Given the description of an element on the screen output the (x, y) to click on. 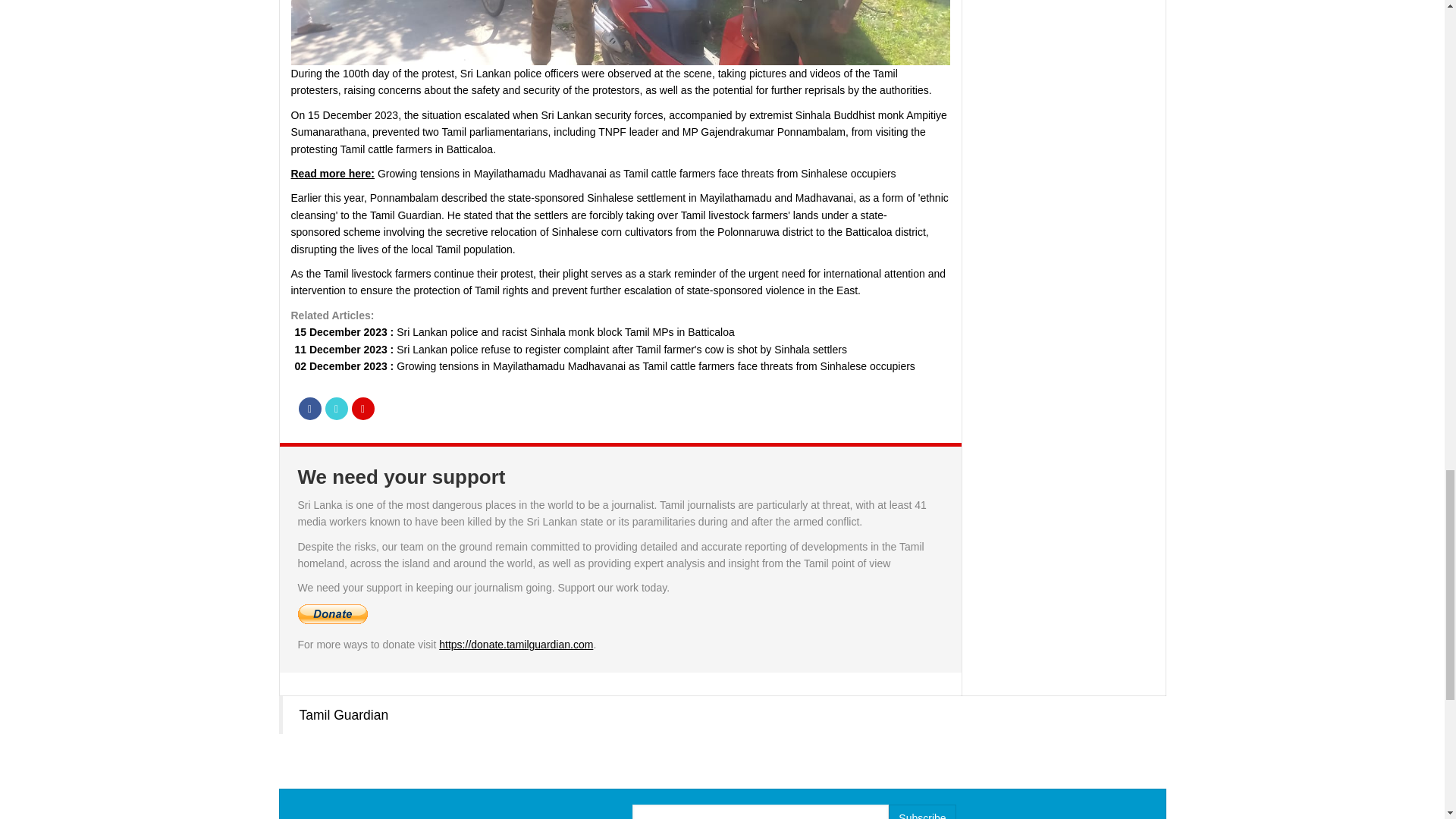
PayPal - The safer, easier way to pay online! (331, 614)
Email (363, 408)
Tweet this (335, 408)
Subscribe (921, 811)
